Given the description of an element on the screen output the (x, y) to click on. 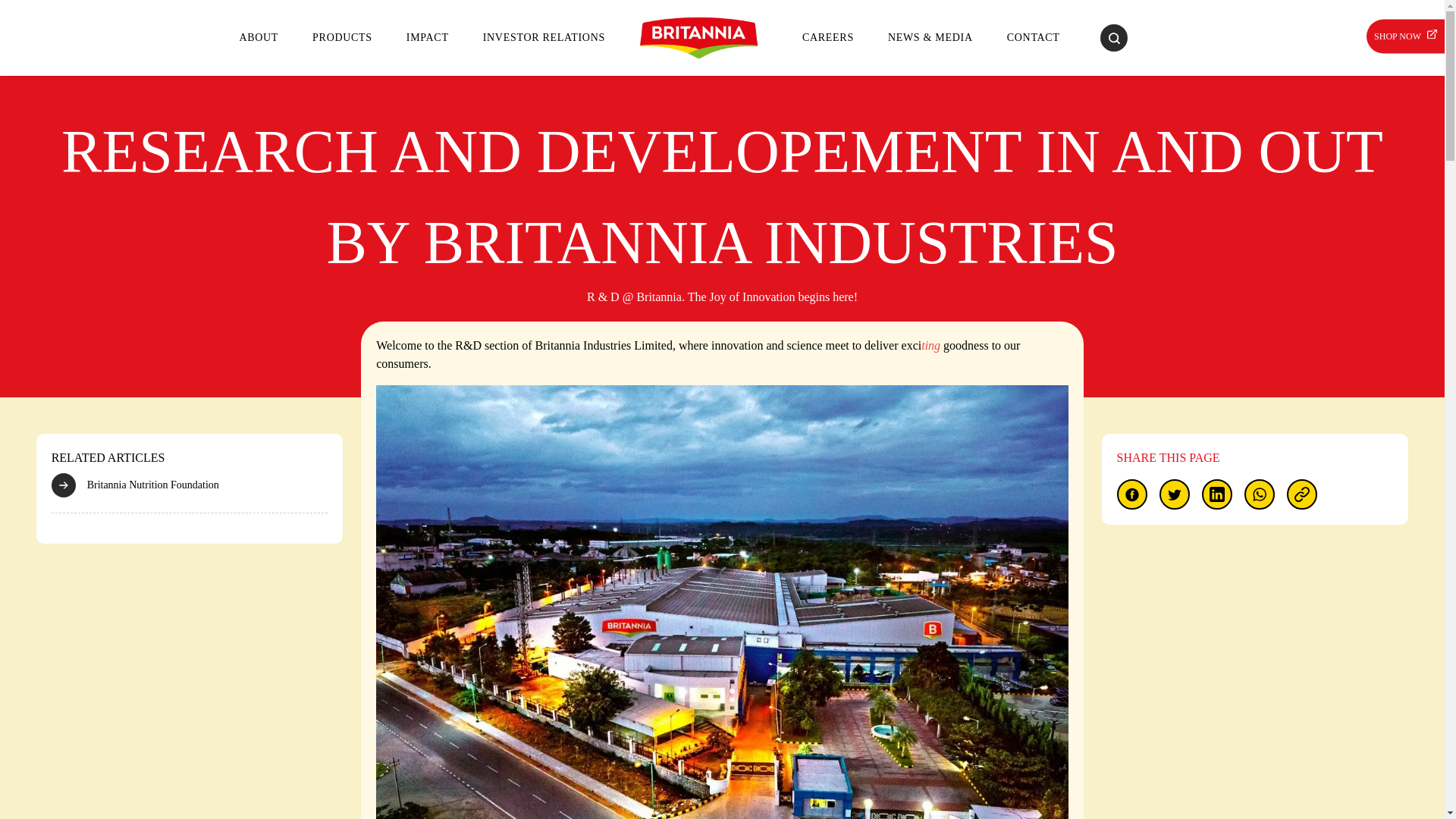
INVESTOR RELATIONS (543, 38)
CAREERS (827, 38)
Britannia Nutrition Foundation (189, 485)
ABOUT (258, 38)
CONTACT (1033, 38)
PRODUCTS (342, 38)
IMPACT (426, 38)
